Given the description of an element on the screen output the (x, y) to click on. 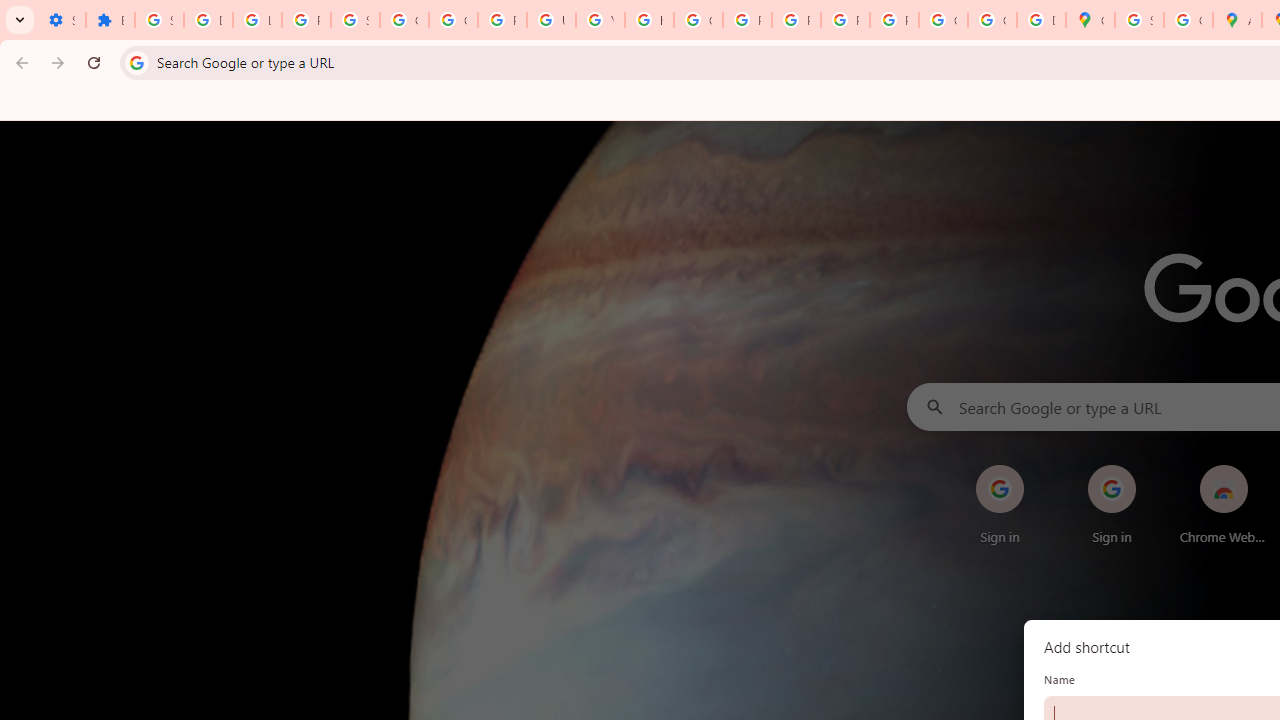
Google Account Help (404, 20)
Google Maps (1090, 20)
Extensions (109, 20)
Settings - On startup (61, 20)
Delete photos & videos - Computer - Google Photos Help (208, 20)
https://scholar.google.com/ (649, 20)
